Given the description of an element on the screen output the (x, y) to click on. 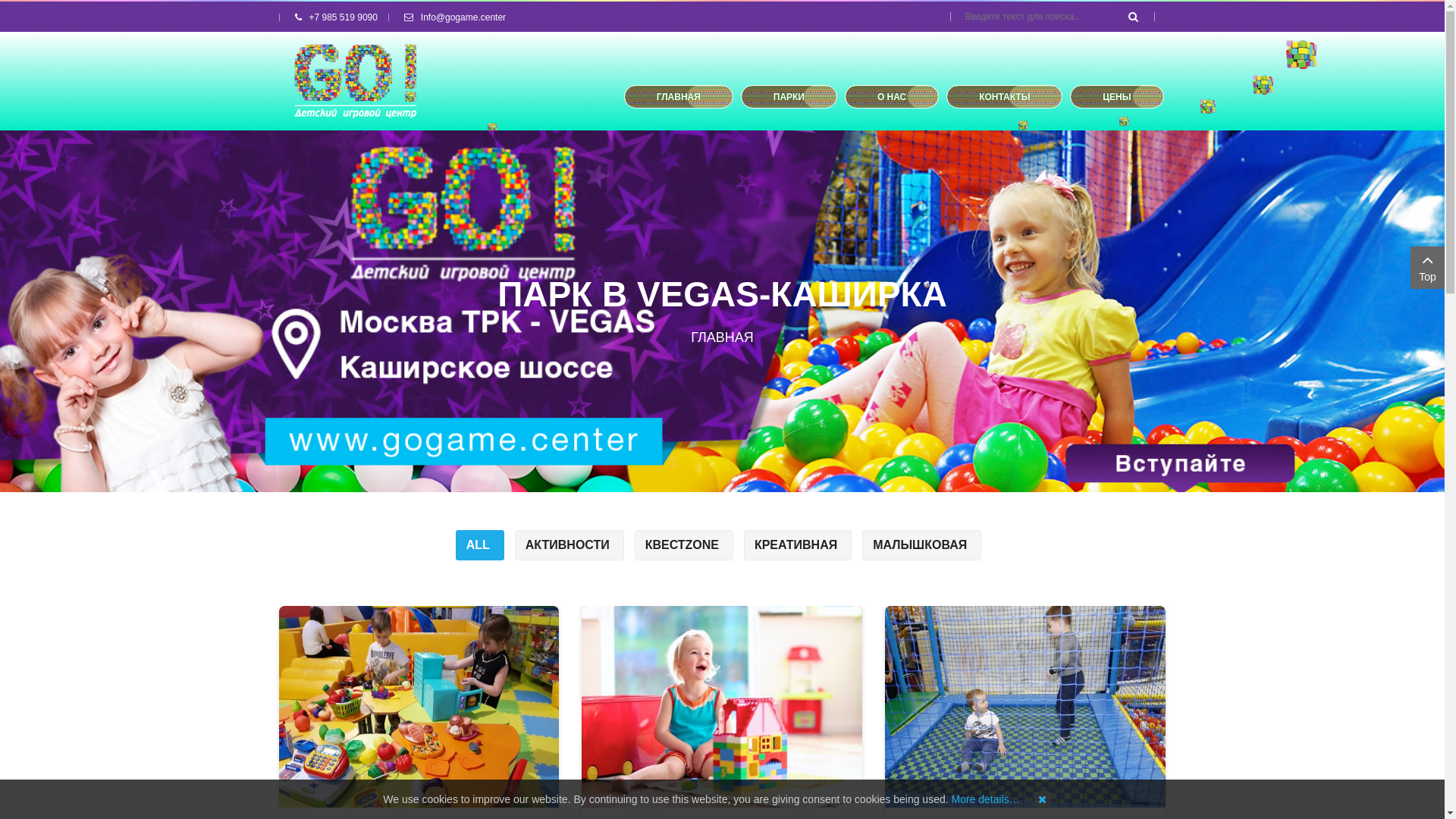
Top Element type: text (1427, 267)
GOgame Element type: hover (355, 80)
